Given the description of an element on the screen output the (x, y) to click on. 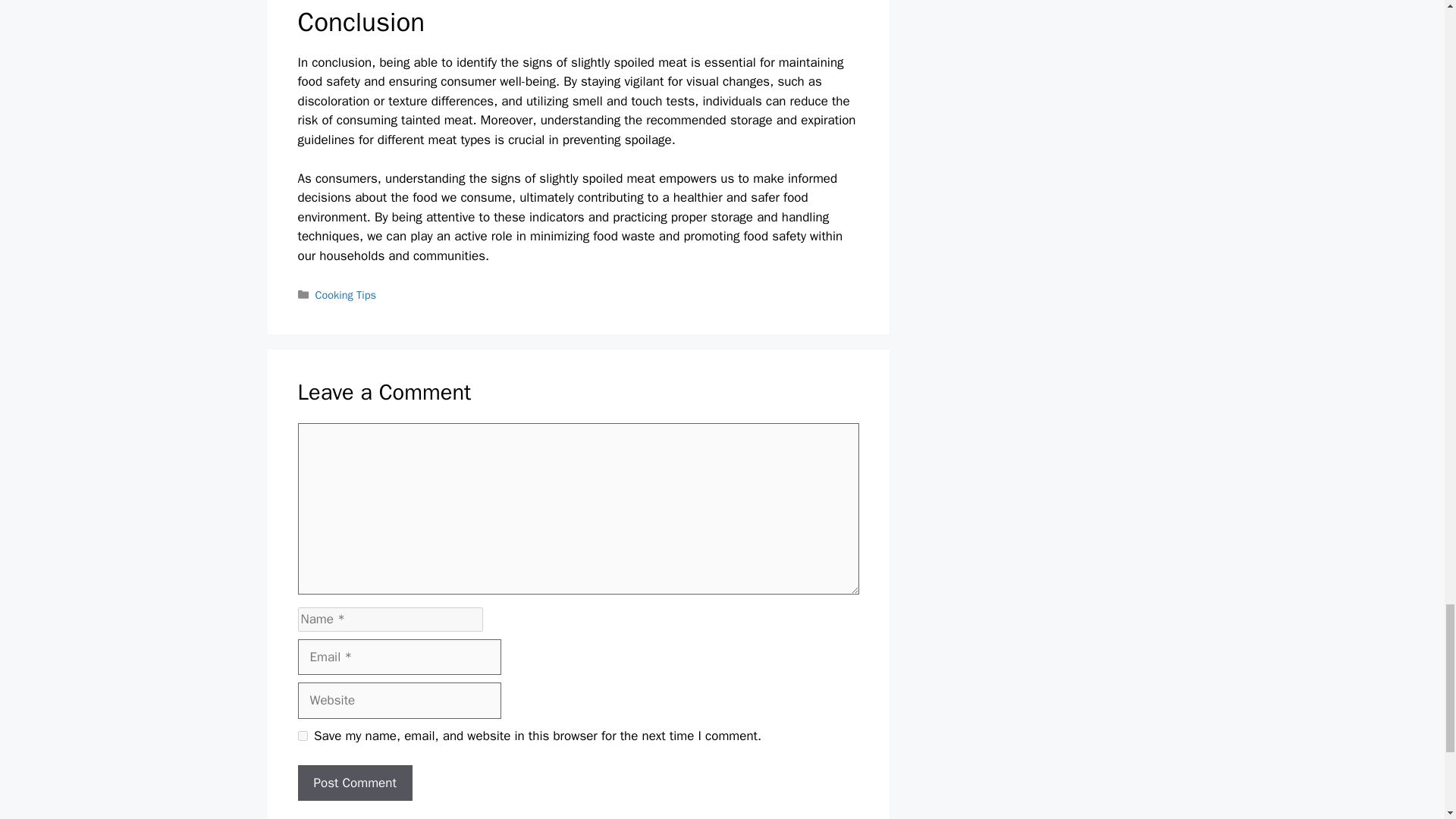
Post Comment (354, 782)
Post Comment (354, 782)
Cooking Tips (345, 295)
yes (302, 736)
